Given the description of an element on the screen output the (x, y) to click on. 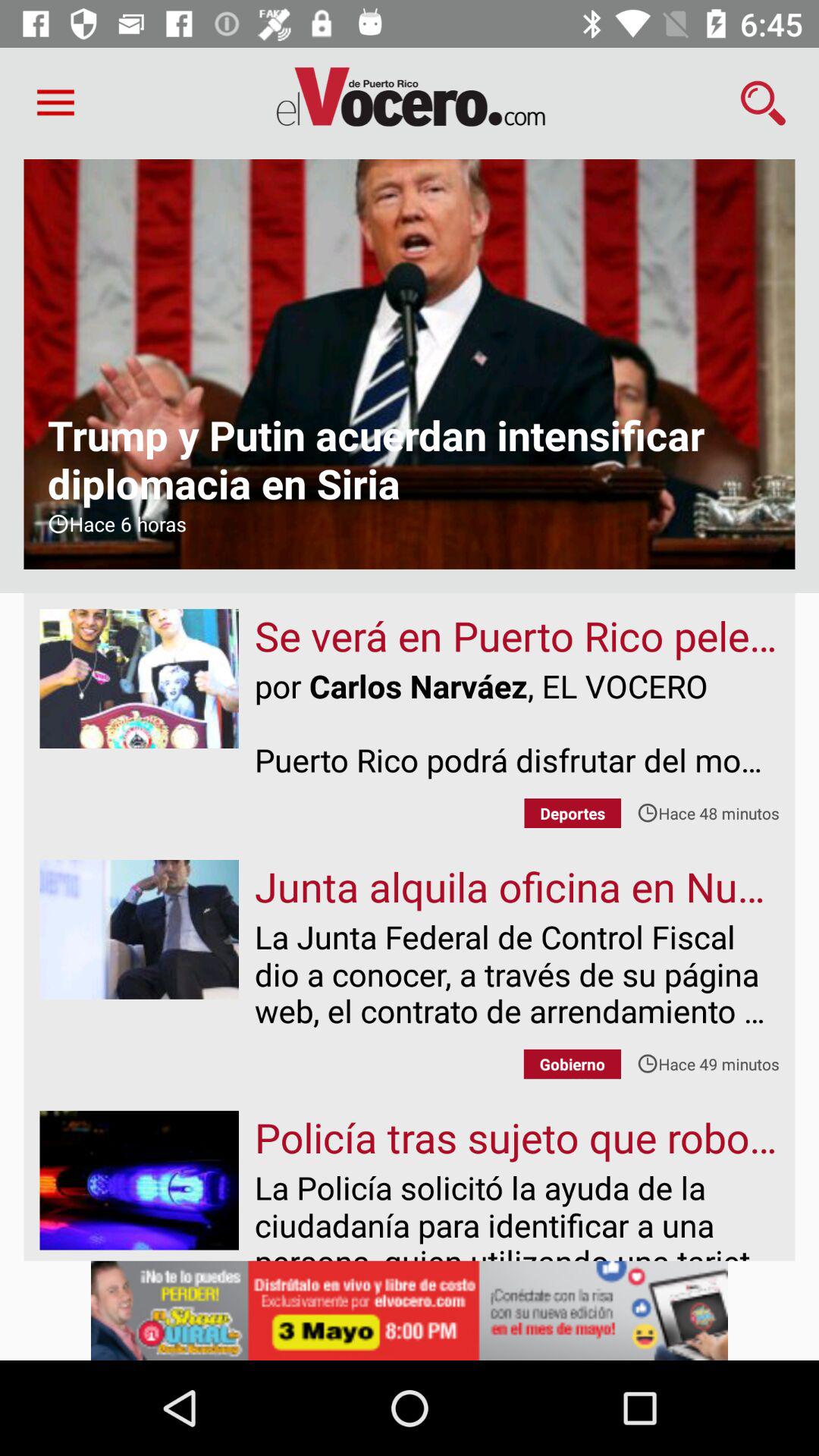
view advertisement (409, 1310)
